Given the description of an element on the screen output the (x, y) to click on. 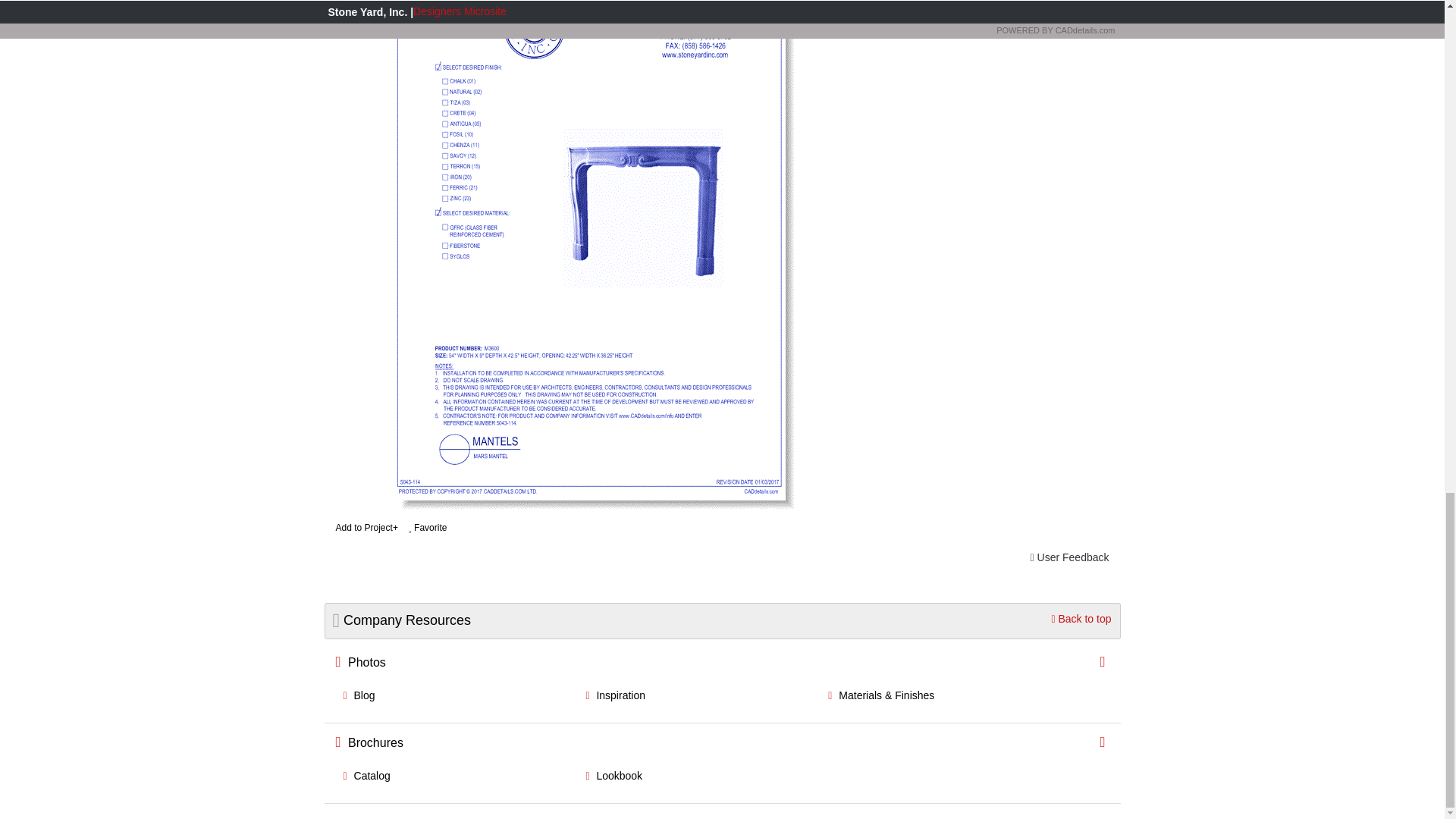
Blog (358, 695)
Lookbook (613, 775)
Favorite (431, 524)
Catalog (366, 775)
Inspiration (615, 695)
